Given the description of an element on the screen output the (x, y) to click on. 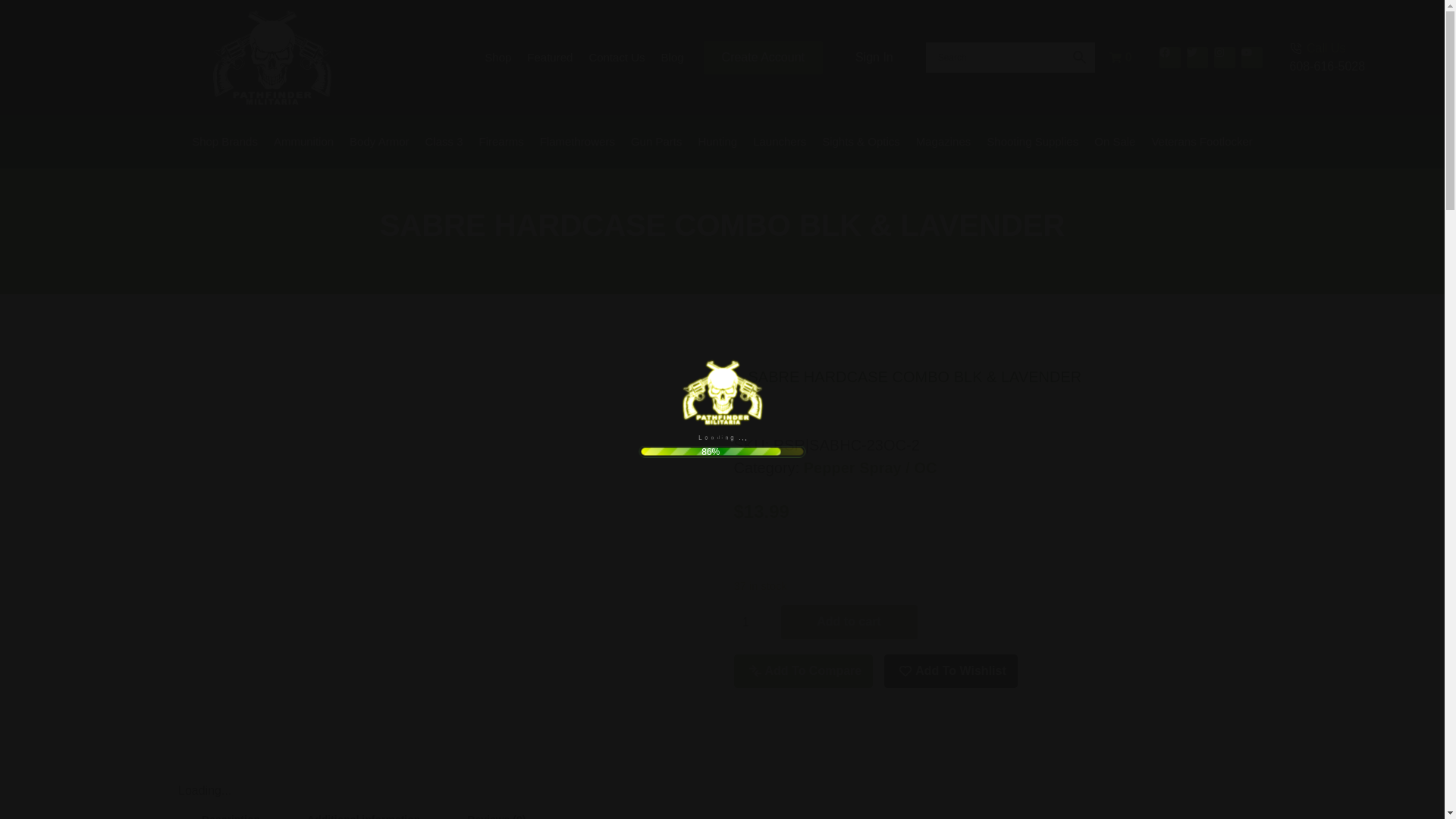
Blog (672, 57)
1 (753, 622)
Create Account (762, 56)
View your shopping cart (1120, 57)
Shop Brands (224, 141)
Featured (549, 57)
Shop (497, 57)
Sign In (874, 56)
0 (1120, 57)
Contact Us (616, 57)
